Given the description of an element on the screen output the (x, y) to click on. 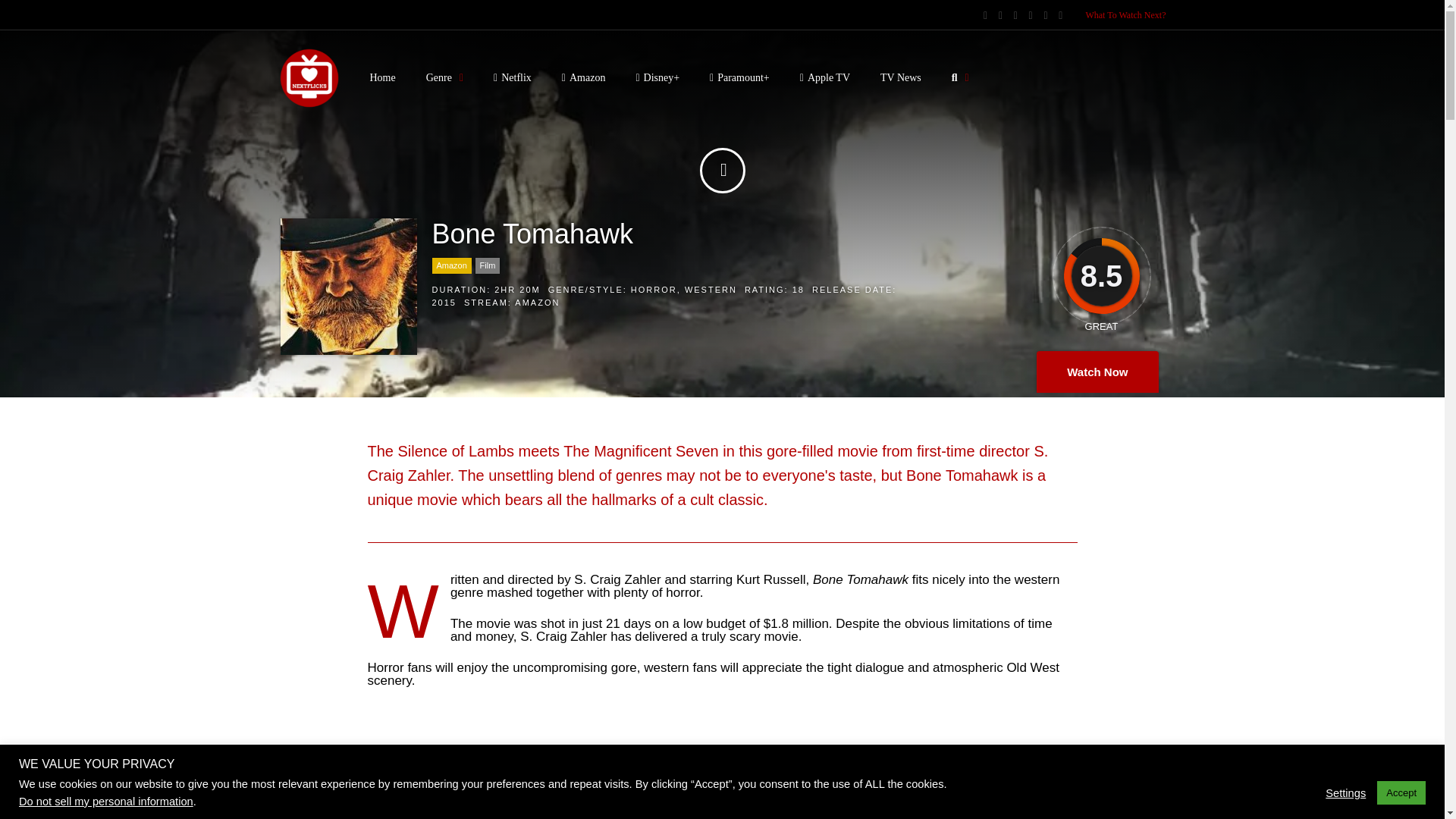
Genre (444, 77)
Advertisement (721, 762)
What To Watch Next? (1125, 15)
NextFlicks (309, 104)
